Given the description of an element on the screen output the (x, y) to click on. 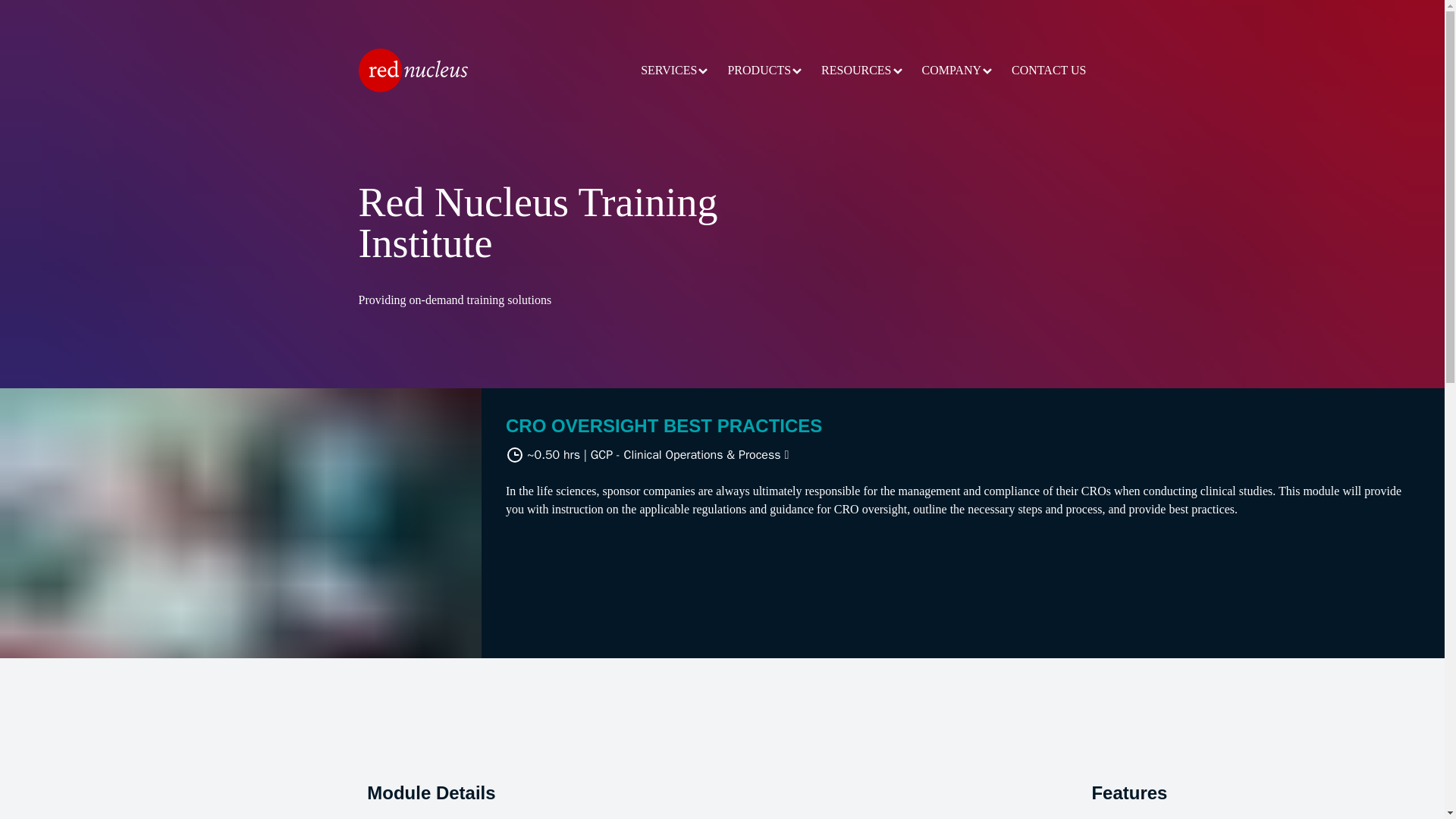
PRODUCTS (764, 70)
SERVICES (674, 70)
